Given the description of an element on the screen output the (x, y) to click on. 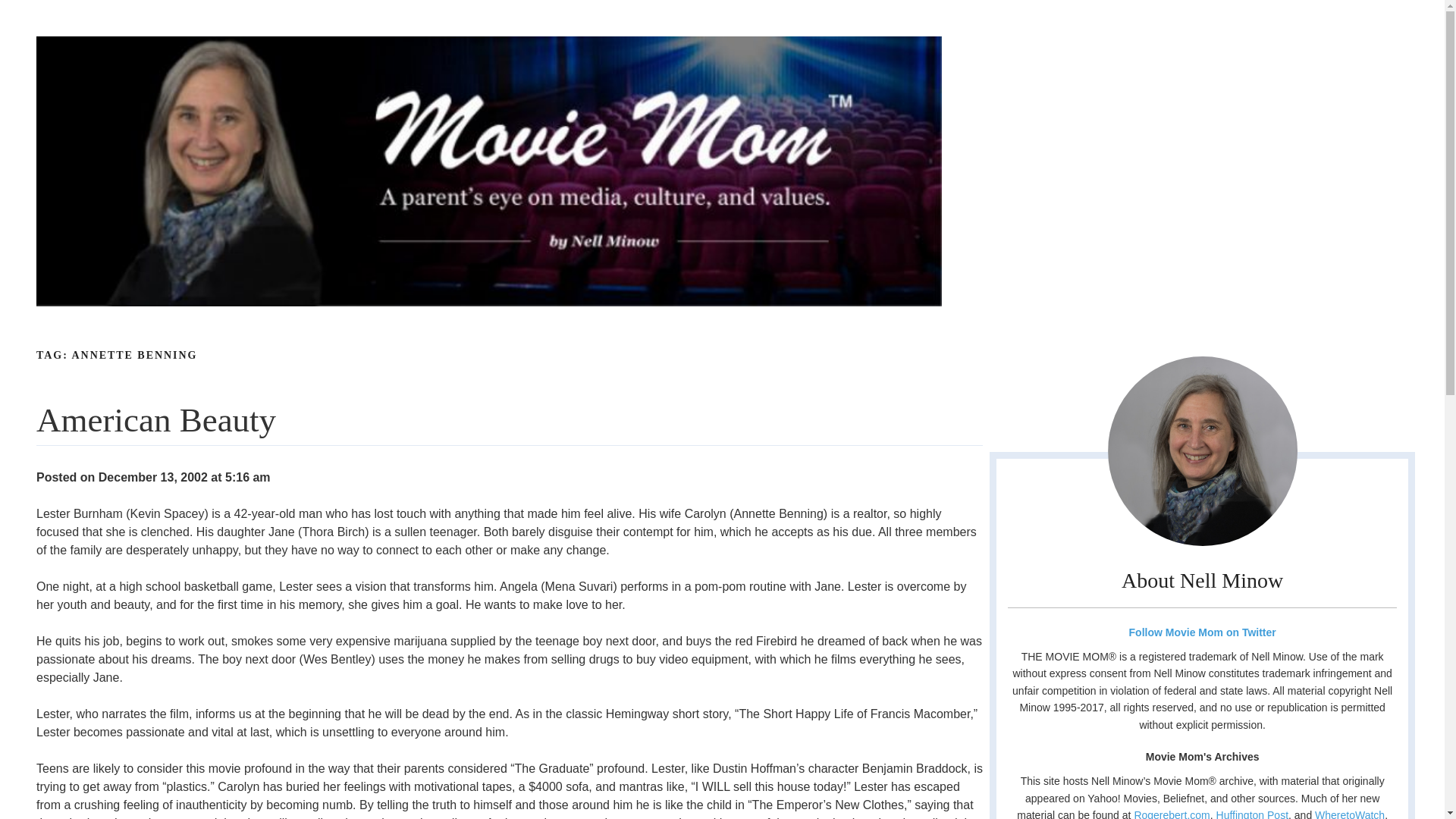
Rogerebert.com (1171, 814)
Follow Movie Mom on Twitter (1201, 632)
WheretoWatch (1349, 814)
Huffington Post (1251, 814)
